Given the description of an element on the screen output the (x, y) to click on. 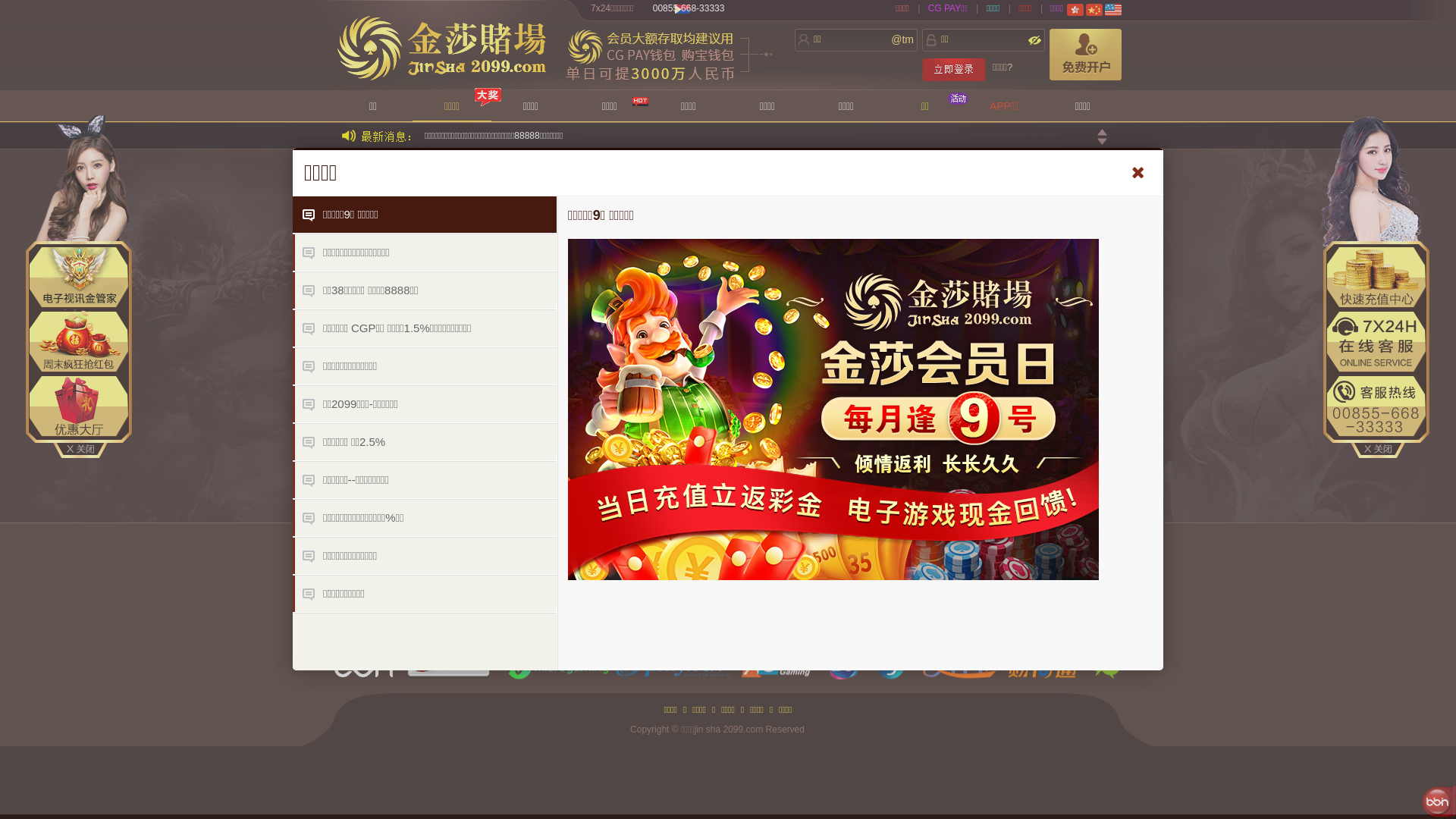
English Element type: hover (1112, 9)
